Given the description of an element on the screen output the (x, y) to click on. 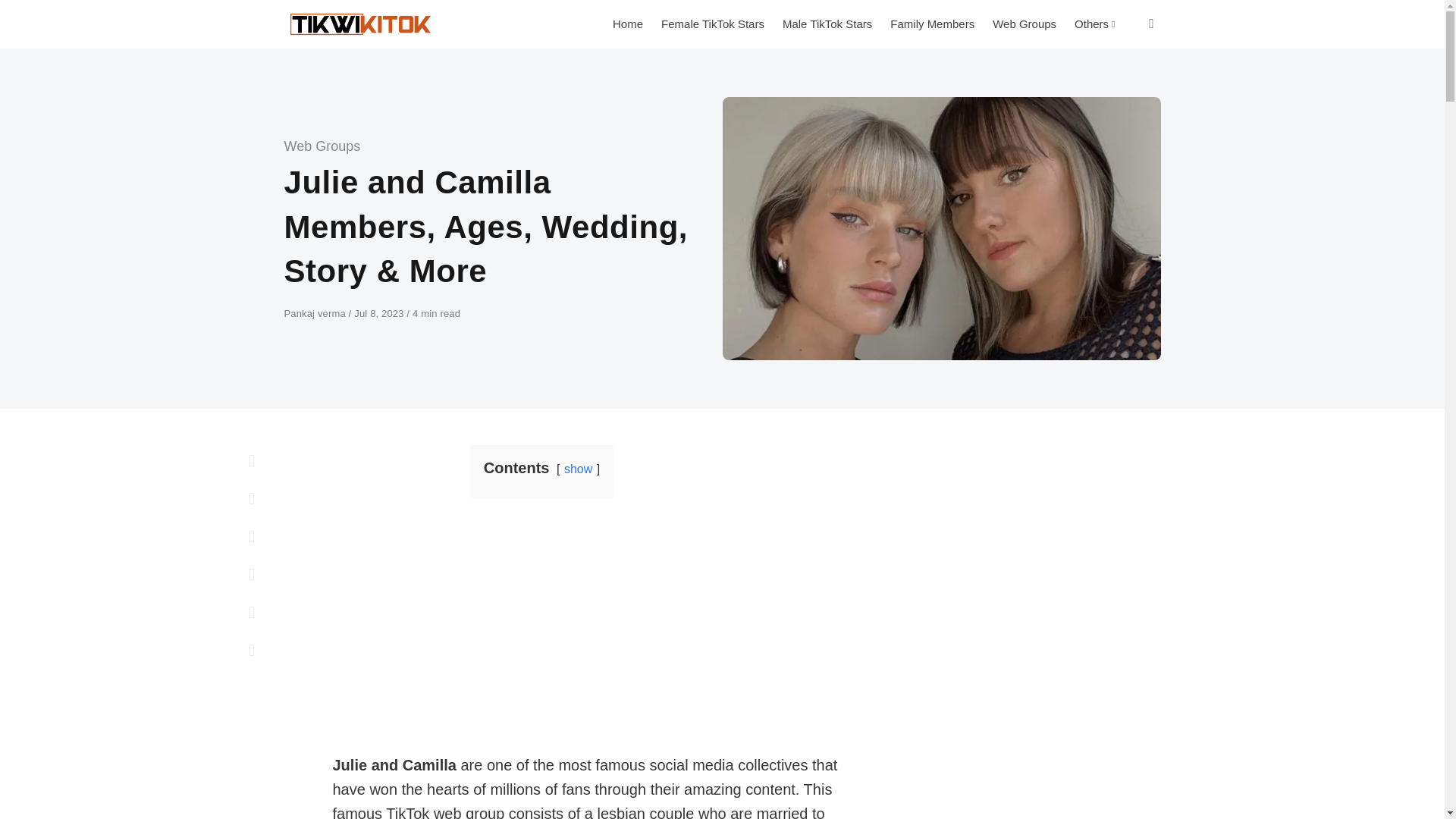
Web Groups (1024, 24)
Jul 8, 2023 (379, 313)
Advertisement (589, 625)
Female TikTok Stars (712, 24)
Pankaj verma (315, 313)
Male TikTok Stars (826, 24)
Others (1094, 24)
Home (628, 24)
Web Groups (321, 145)
Family Members (932, 24)
show (578, 468)
